Given the description of an element on the screen output the (x, y) to click on. 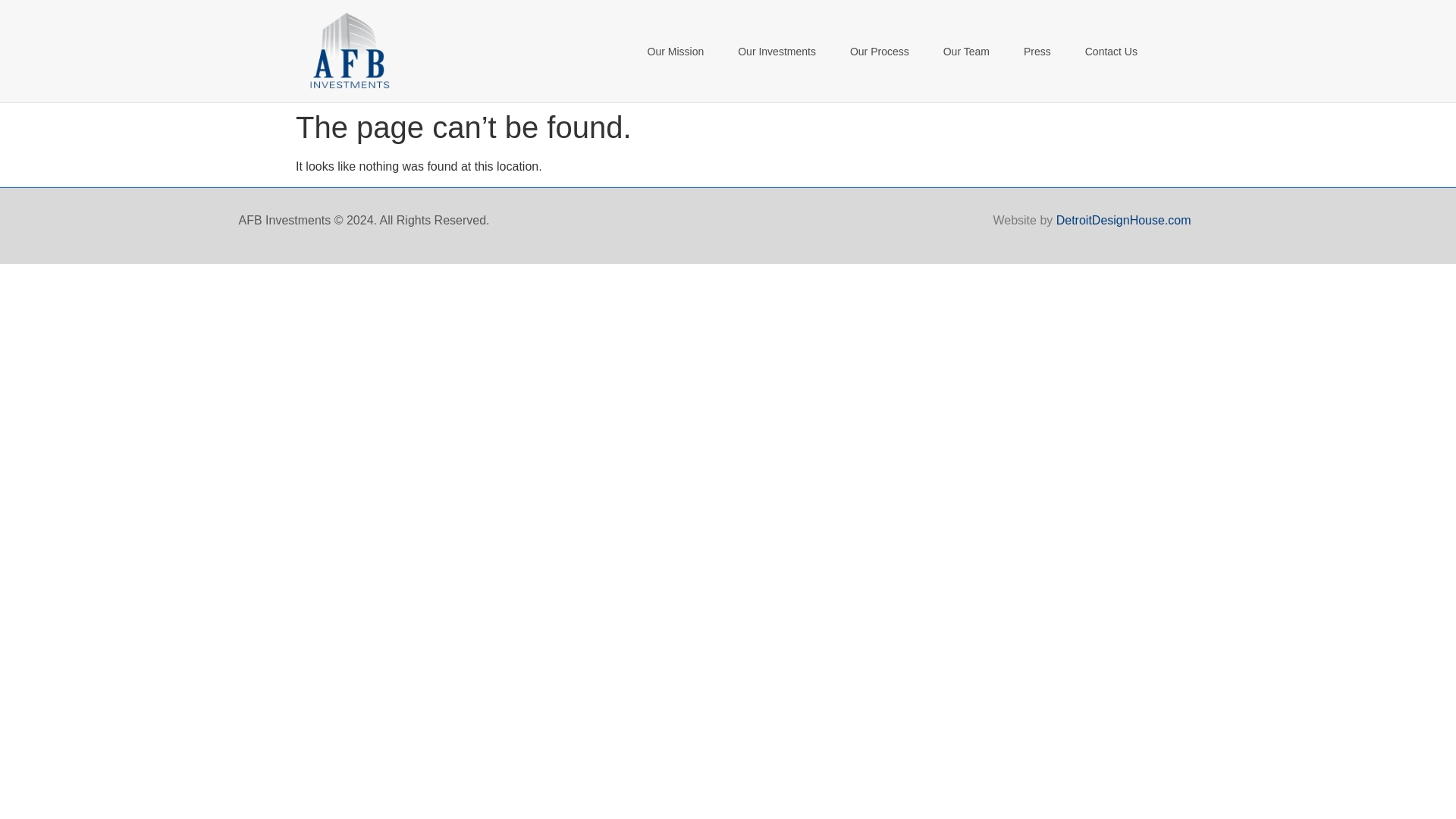
DetroitDesignHouse.com (1124, 219)
Our Mission (675, 51)
Contact Us (1111, 51)
Our Process (879, 51)
Our Team (966, 51)
Our Investments (776, 51)
DetroitDesignHouse.com (1124, 219)
Press (1037, 51)
